Given the description of an element on the screen output the (x, y) to click on. 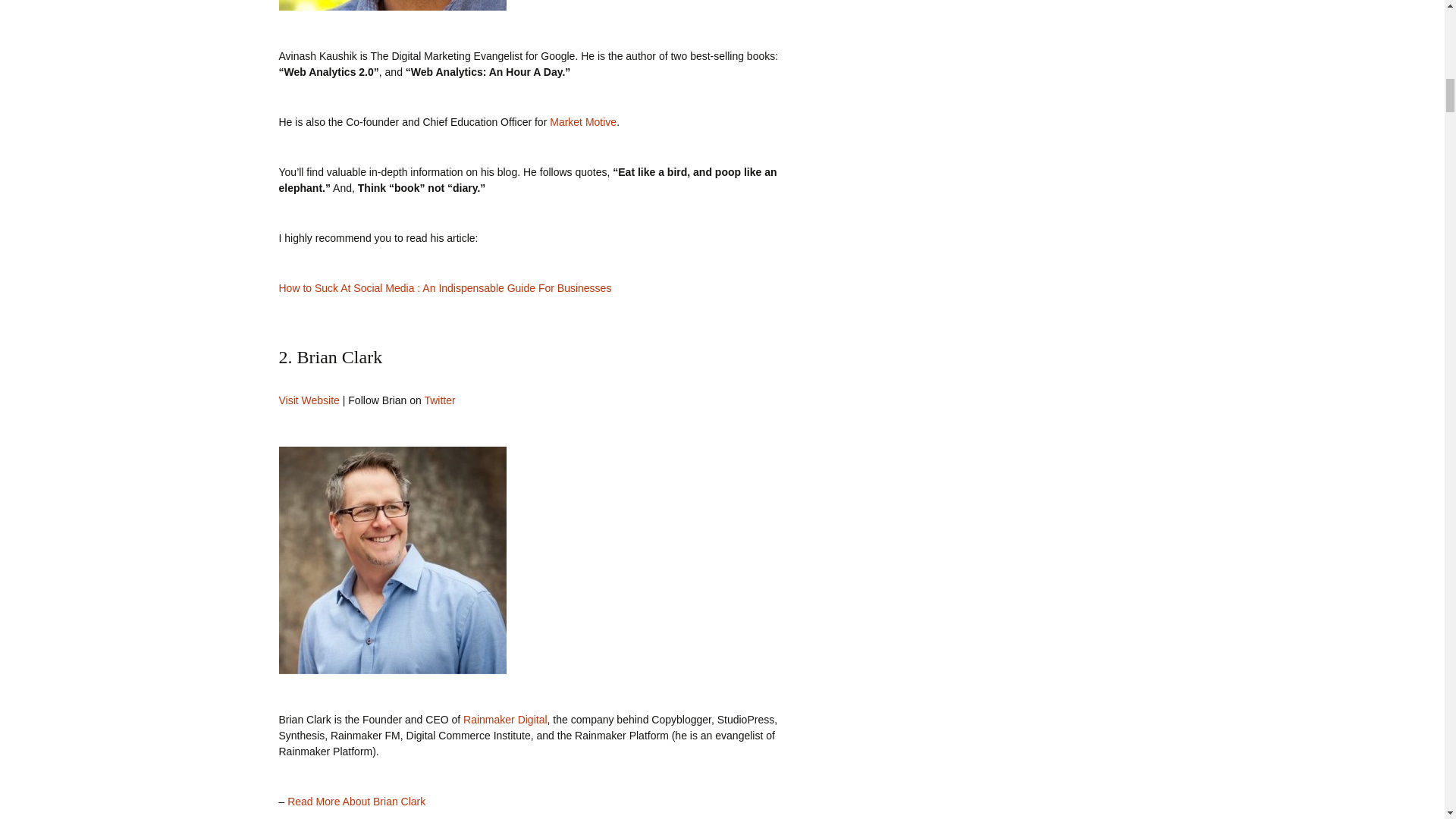
Rainmaker Digital (505, 719)
Read More About Brian Clark (355, 801)
Twitter (438, 399)
Market Motive (582, 121)
Visit Website (309, 399)
